Given the description of an element on the screen output the (x, y) to click on. 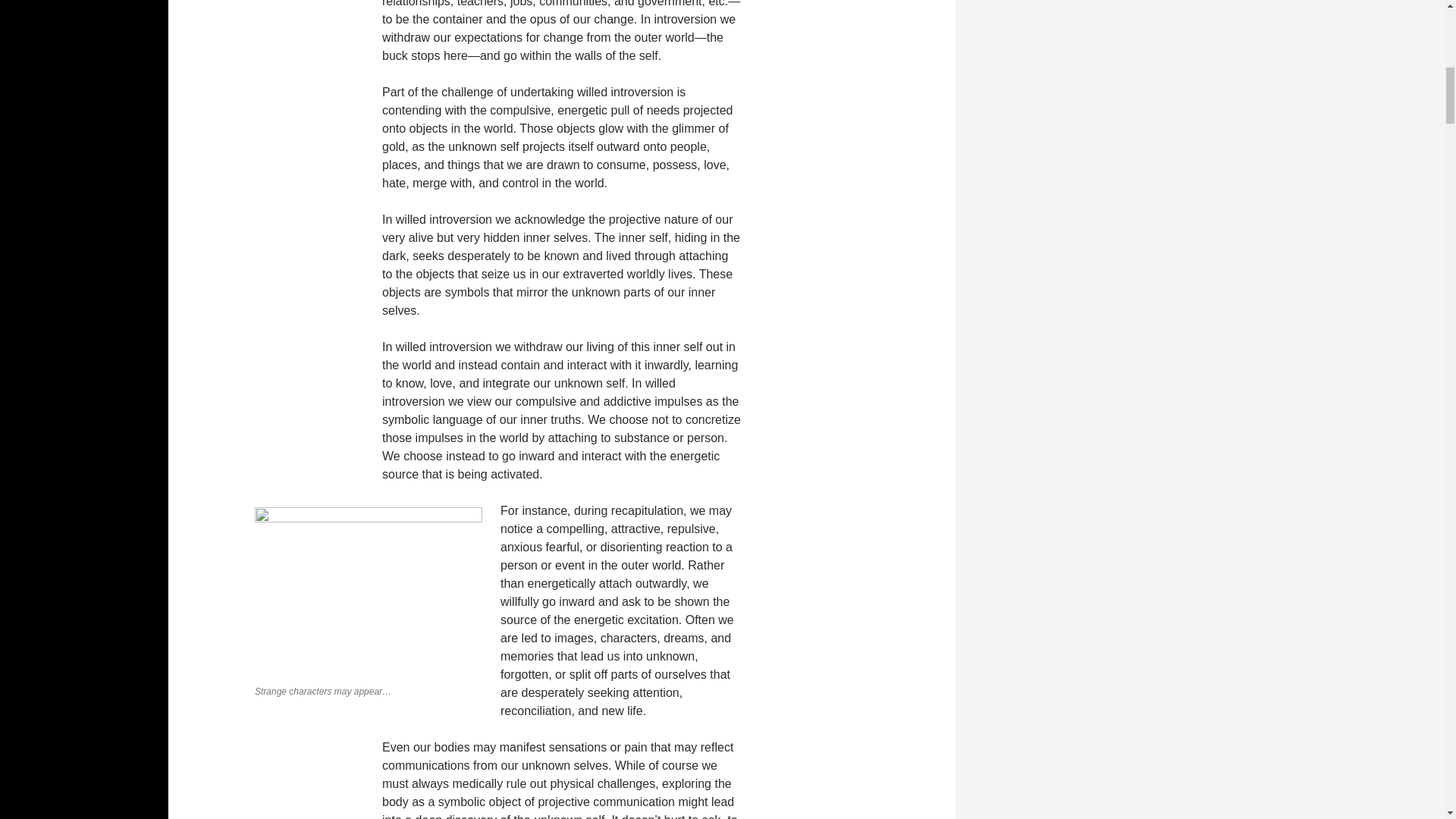
Photo by Chuck (367, 592)
